Given the description of an element on the screen output the (x, y) to click on. 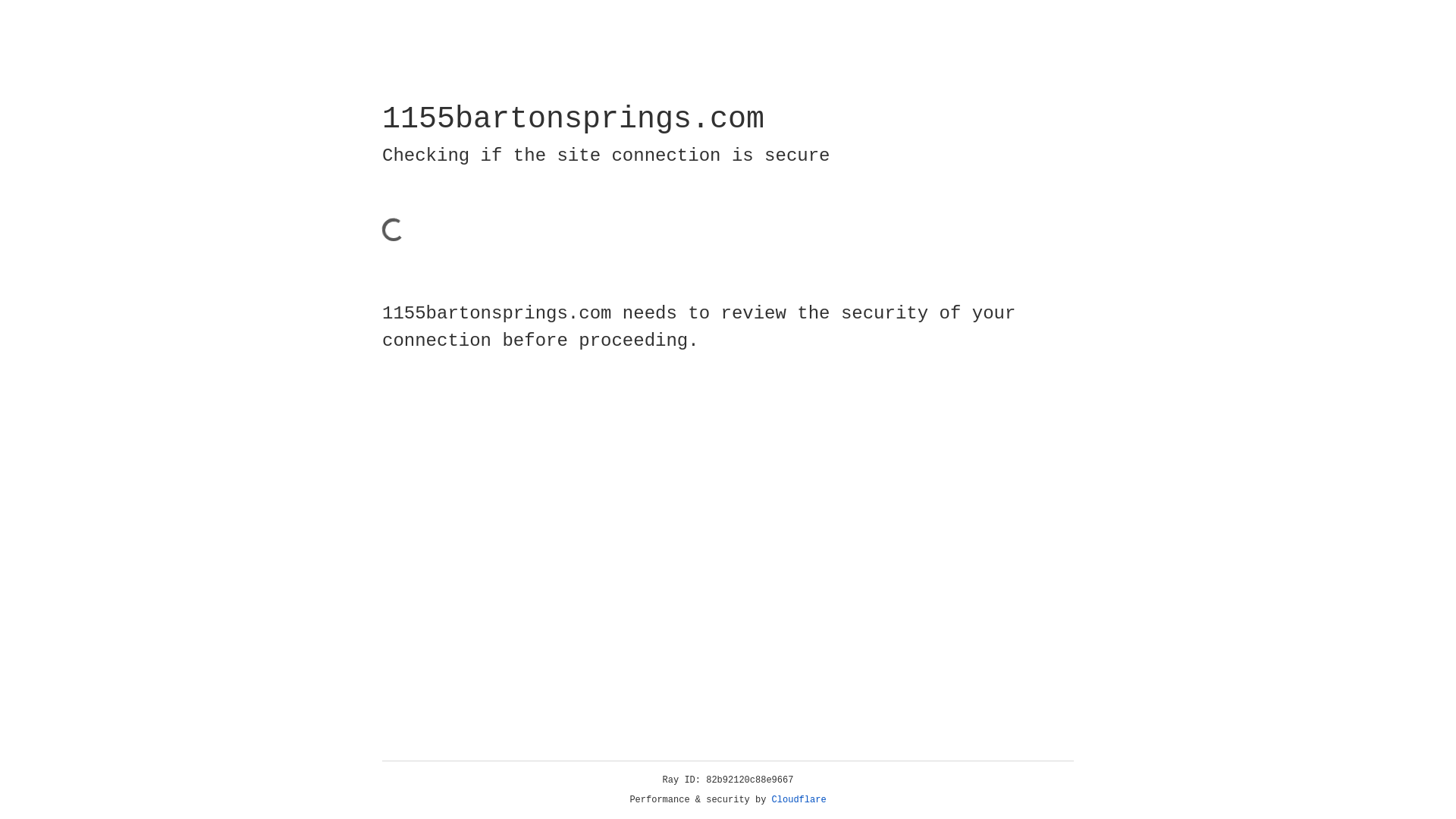
Cloudflare Element type: text (798, 799)
